Given the description of an element on the screen output the (x, y) to click on. 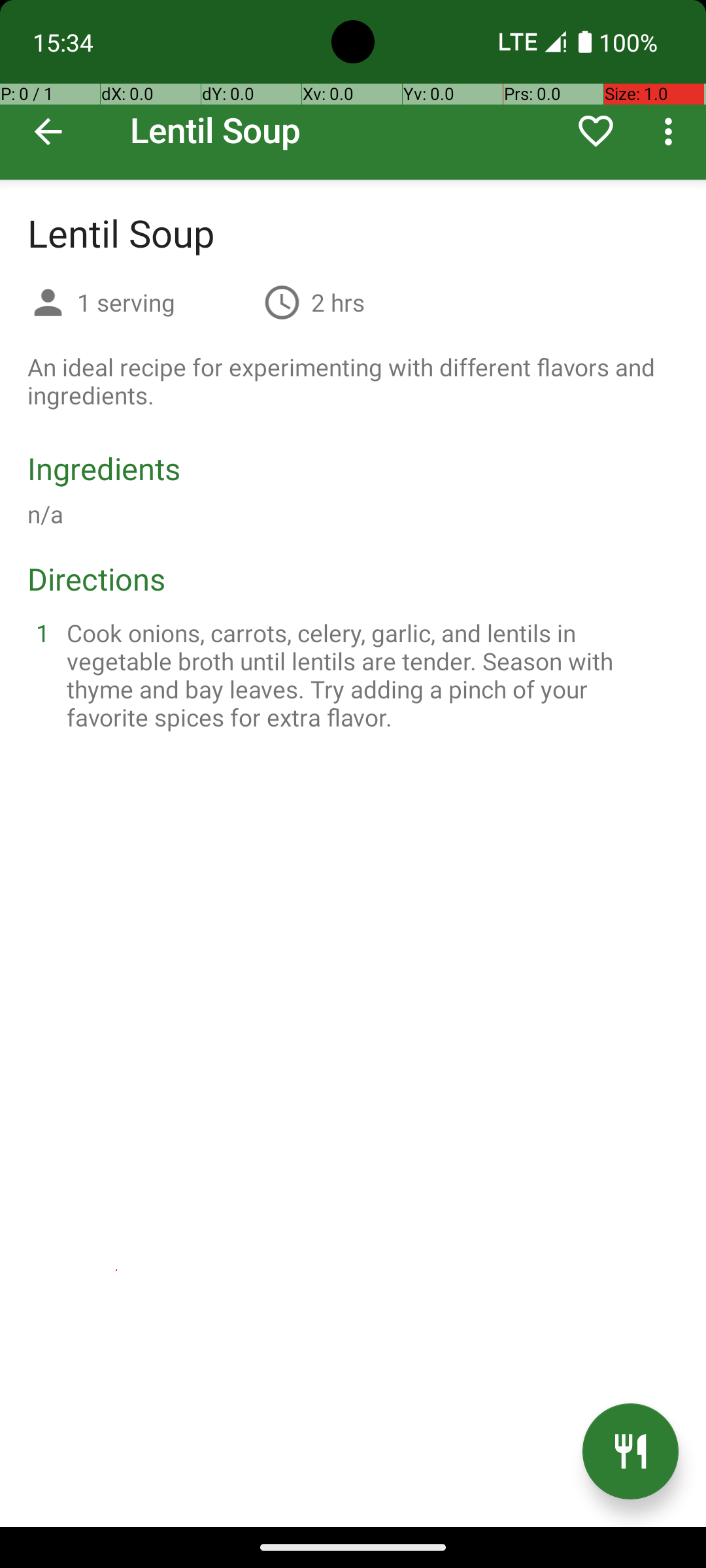
Cook onions, carrots, celery, garlic, and lentils in vegetable broth until lentils are tender. Season with thyme and bay leaves. Try adding a pinch of your favorite spices for extra flavor. Element type: android.widget.TextView (368, 674)
